Given the description of an element on the screen output the (x, y) to click on. 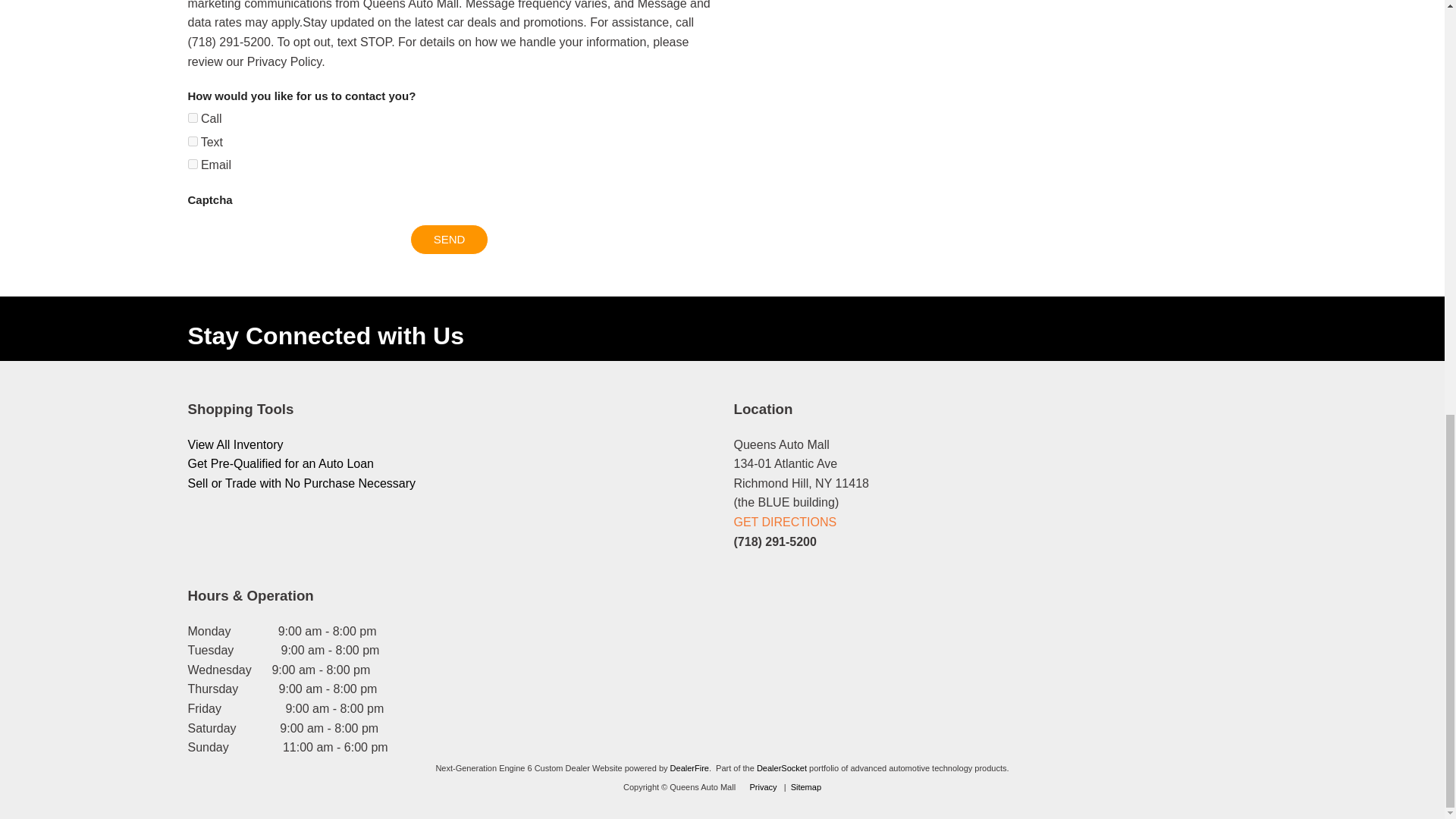
Get Pre-Qualified for an Auto Loan (280, 463)
SEND (449, 239)
Sitemap (805, 786)
GET DIRECTIONS (785, 521)
Call (192, 117)
Sell or Trade with No Purchase Necessary (301, 482)
Text (192, 141)
Email (192, 163)
View All Inventory (235, 444)
DealerFire (689, 768)
